Given the description of an element on the screen output the (x, y) to click on. 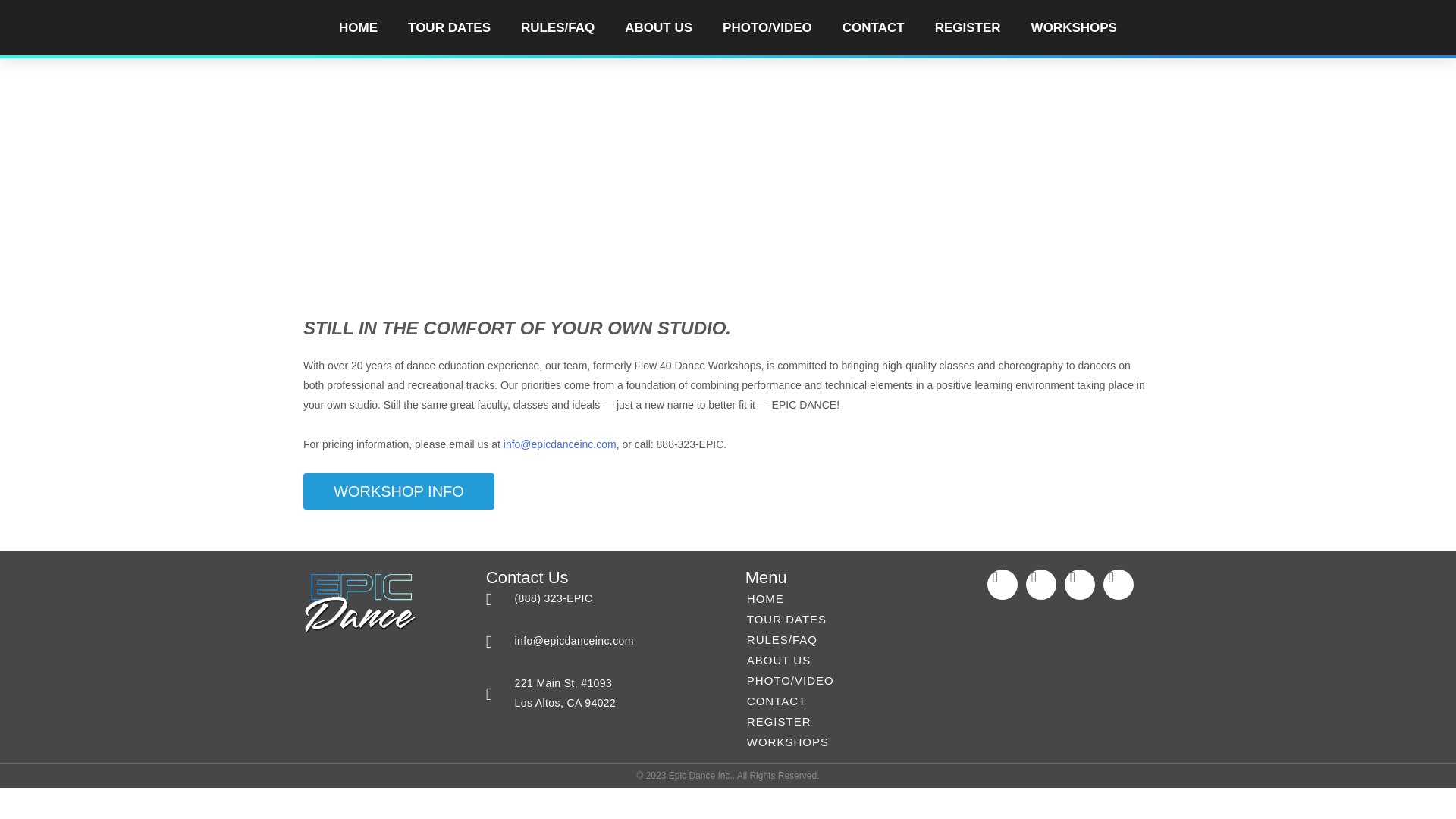
CONTACT (873, 27)
WORKSHOPS (1074, 27)
REGISTER (968, 27)
TOUR DATES (449, 27)
ABOUT US (658, 27)
HOME (358, 27)
